Given the description of an element on the screen output the (x, y) to click on. 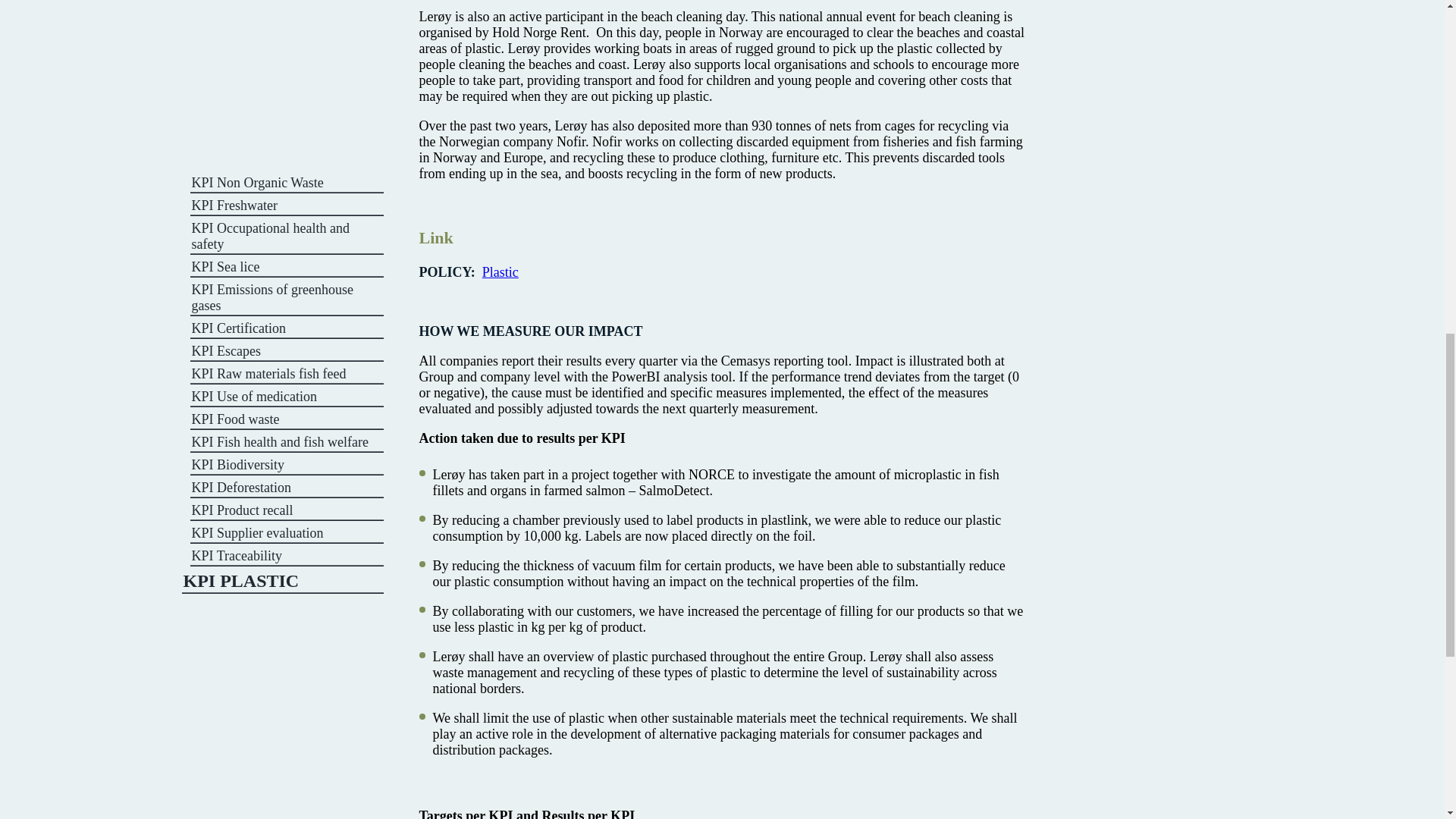
Plastic policy (499, 272)
